Given the description of an element on the screen output the (x, y) to click on. 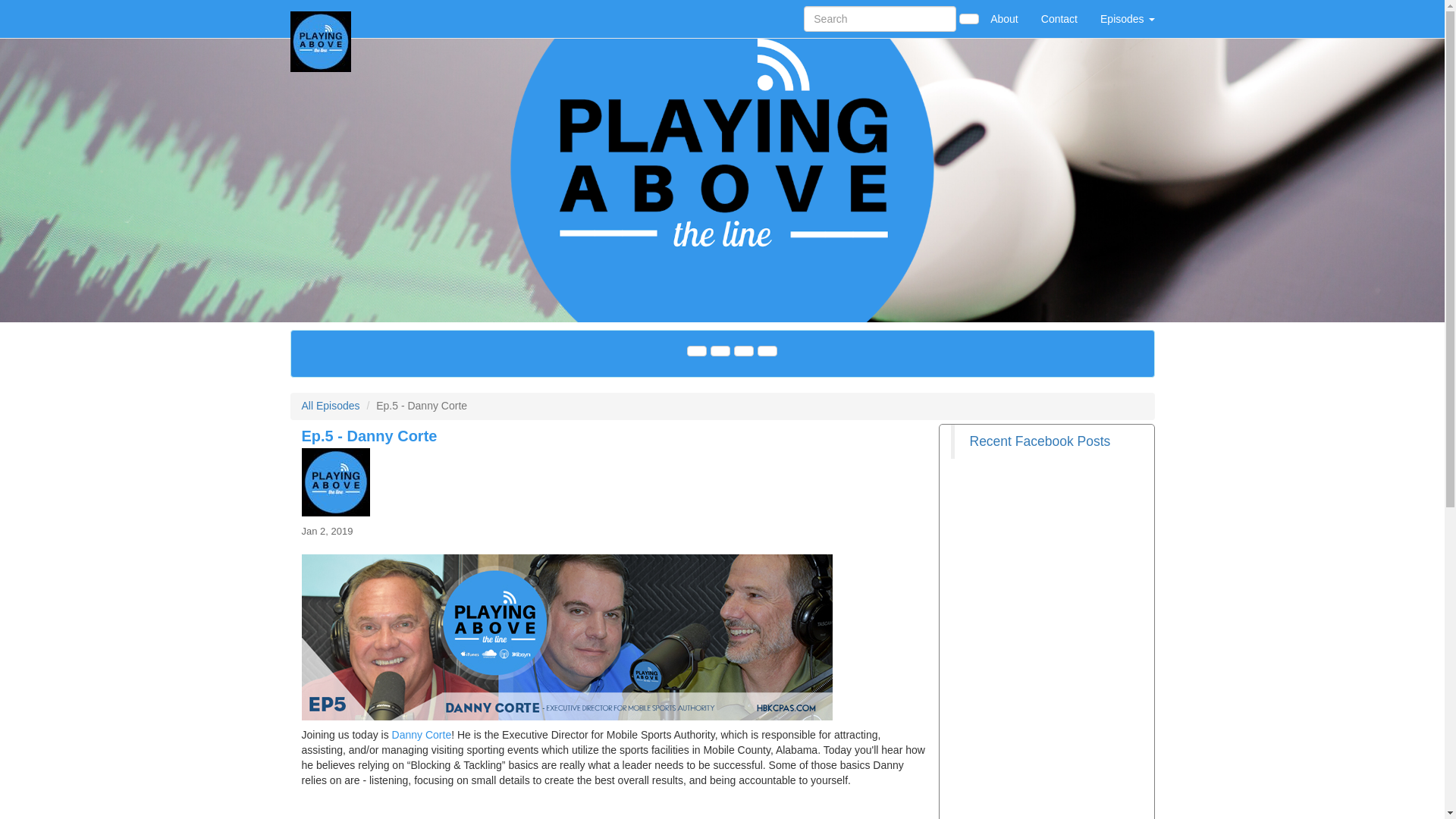
Home Page (320, 18)
Episodes (1127, 18)
About (1003, 18)
Ep.5 - Danny Corte (614, 481)
Contact (1059, 18)
